Given the description of an element on the screen output the (x, y) to click on. 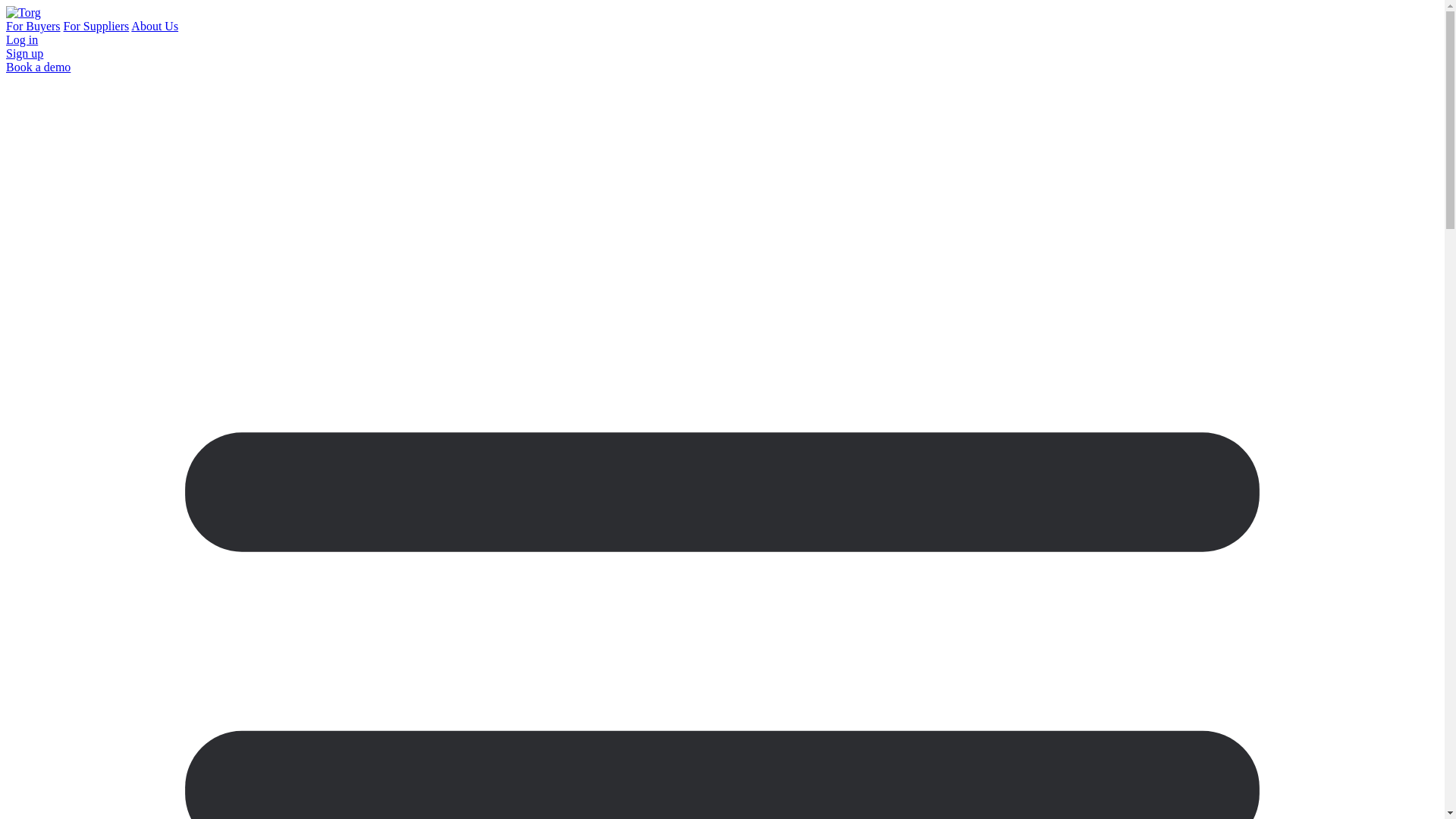
Log in (21, 39)
Book a demo (37, 66)
About Us (154, 25)
For Buyers (33, 25)
For Suppliers (96, 25)
Sign up (24, 52)
